Given the description of an element on the screen output the (x, y) to click on. 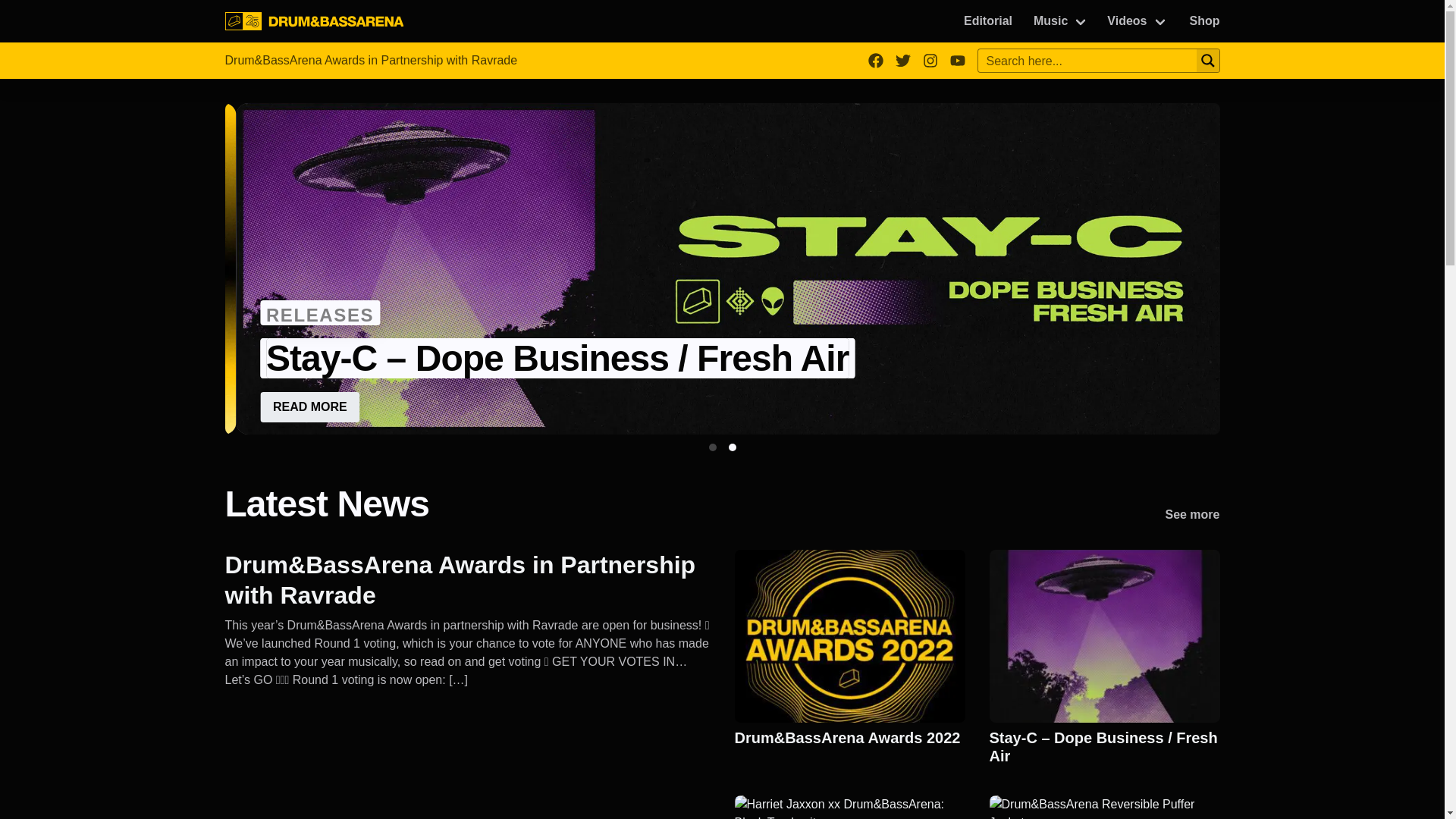
Videos (1136, 21)
Editorial (988, 21)
Homepage (313, 21)
Music (1061, 21)
See more (1192, 515)
Shop (1203, 21)
RELEASES (320, 312)
